Given the description of an element on the screen output the (x, y) to click on. 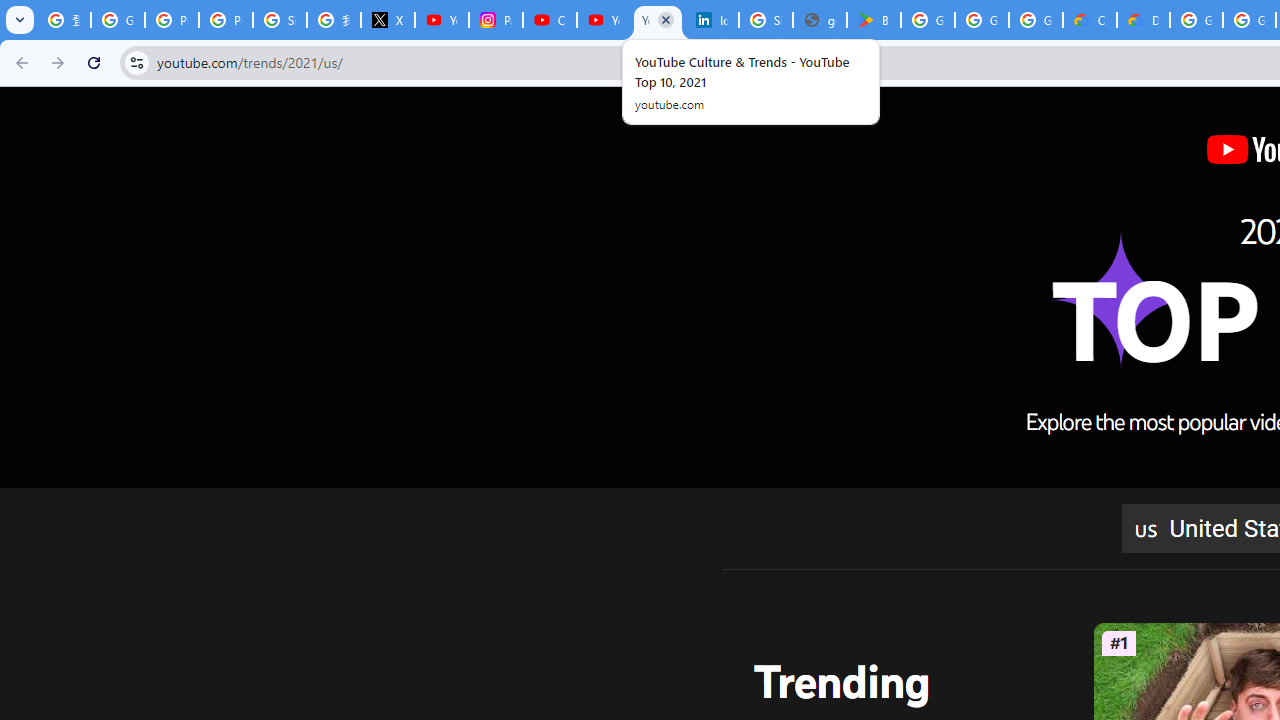
google_privacy_policy_en.pdf (819, 20)
Bluey: Let's Play! - Apps on Google Play (874, 20)
Privacy Help Center - Policies Help (225, 20)
Google Workspace - Specific Terms (981, 20)
YouTube Content Monetization Policies - How YouTube Works (441, 20)
